Given the description of an element on the screen output the (x, y) to click on. 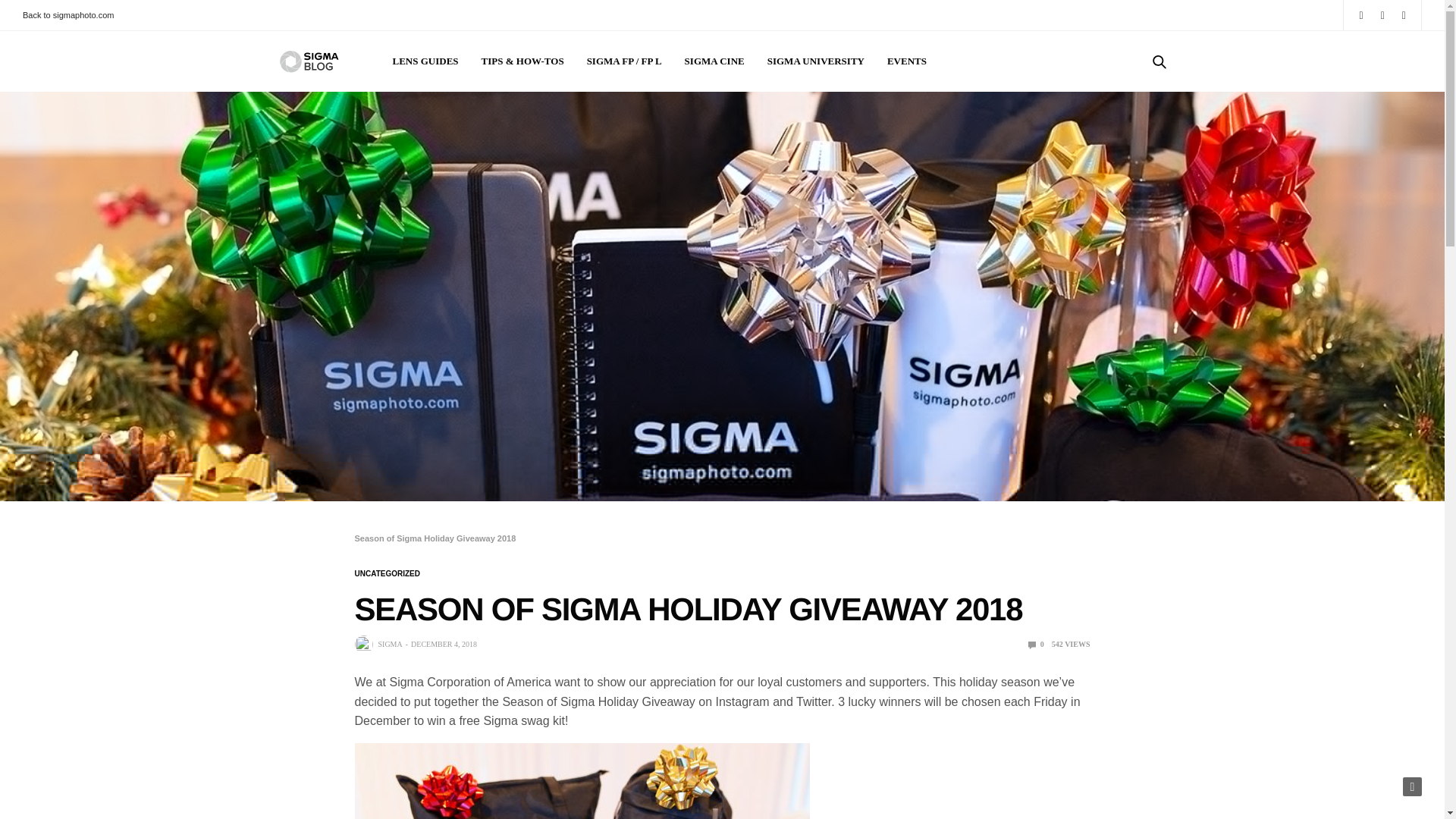
SIGMA UNIVERSITY (815, 61)
UNCATEGORIZED (387, 574)
Posts by SIGMA (389, 644)
Search (1137, 112)
Back to sigmaphoto.com (71, 15)
Uncategorized (387, 574)
SIGMA (389, 644)
EVENTS (906, 61)
SIGMA CINE (714, 61)
LENS GUIDES (425, 61)
